Given the description of an element on the screen output the (x, y) to click on. 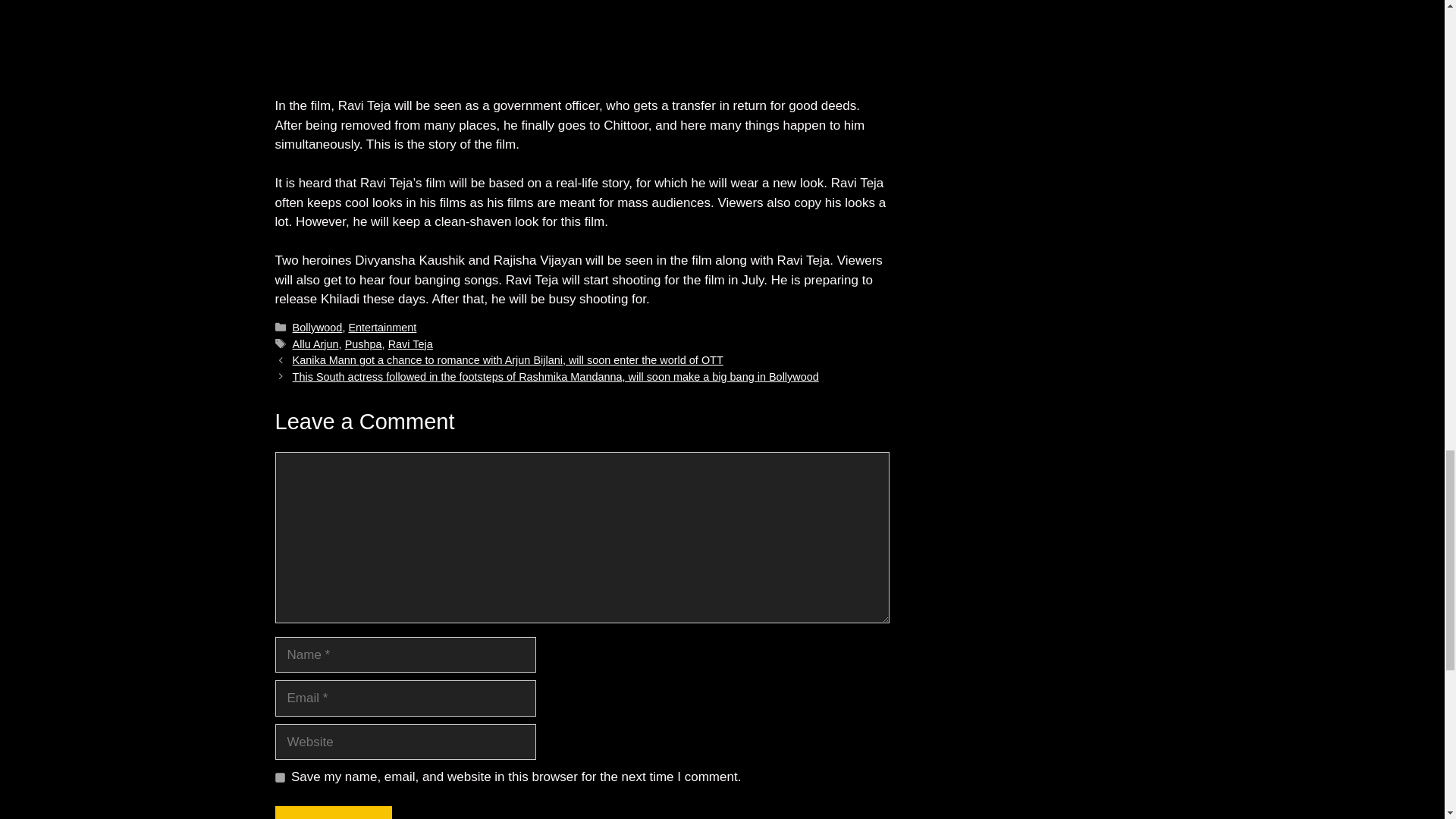
yes (279, 777)
Post Comment (333, 812)
